Given the description of an element on the screen output the (x, y) to click on. 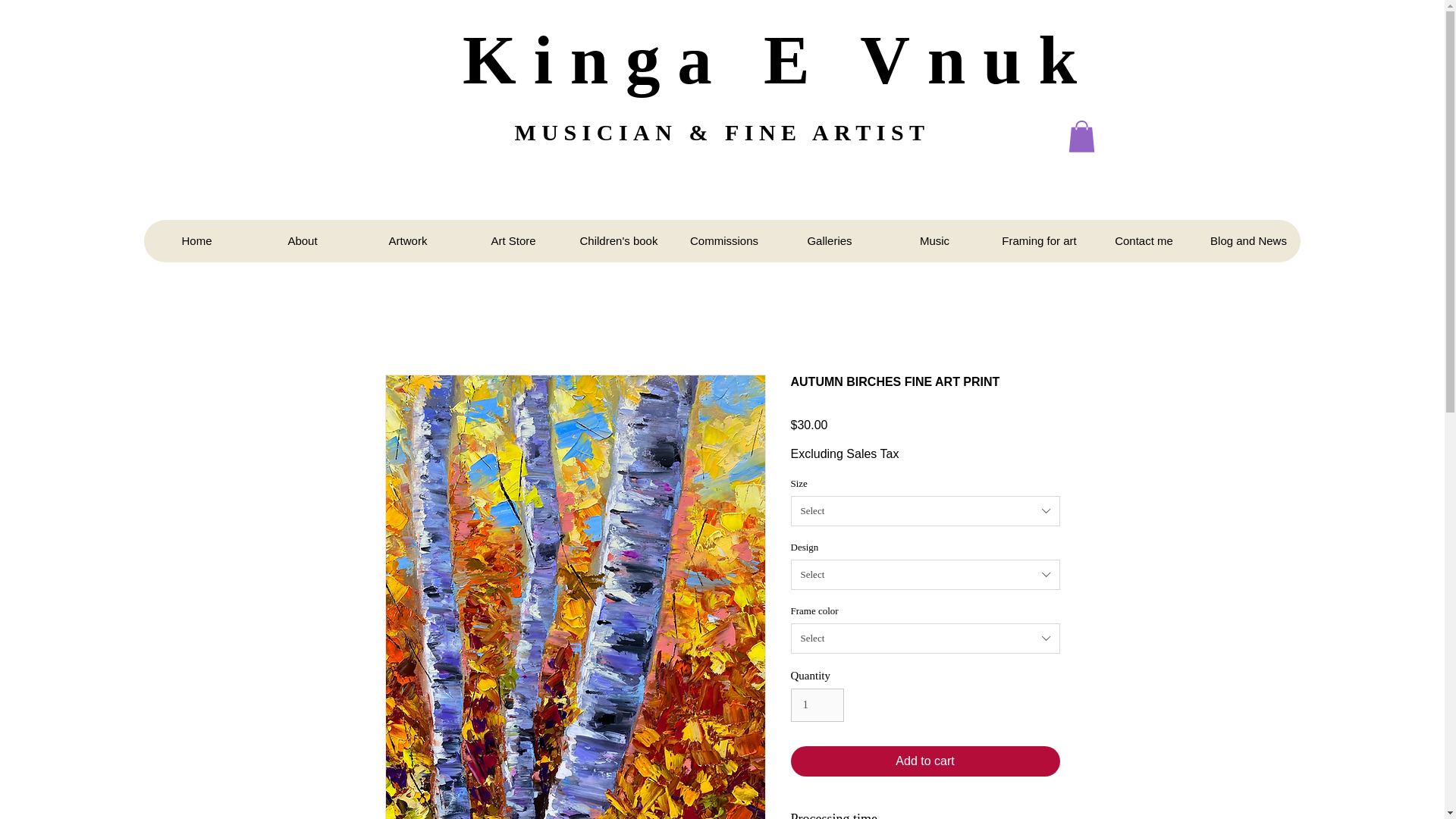
Children's book (618, 241)
Art Store (513, 241)
1 (817, 704)
Home (196, 241)
Artwork (407, 241)
Music (934, 241)
Galleries (829, 241)
About (301, 241)
Commissions (723, 241)
